Given the description of an element on the screen output the (x, y) to click on. 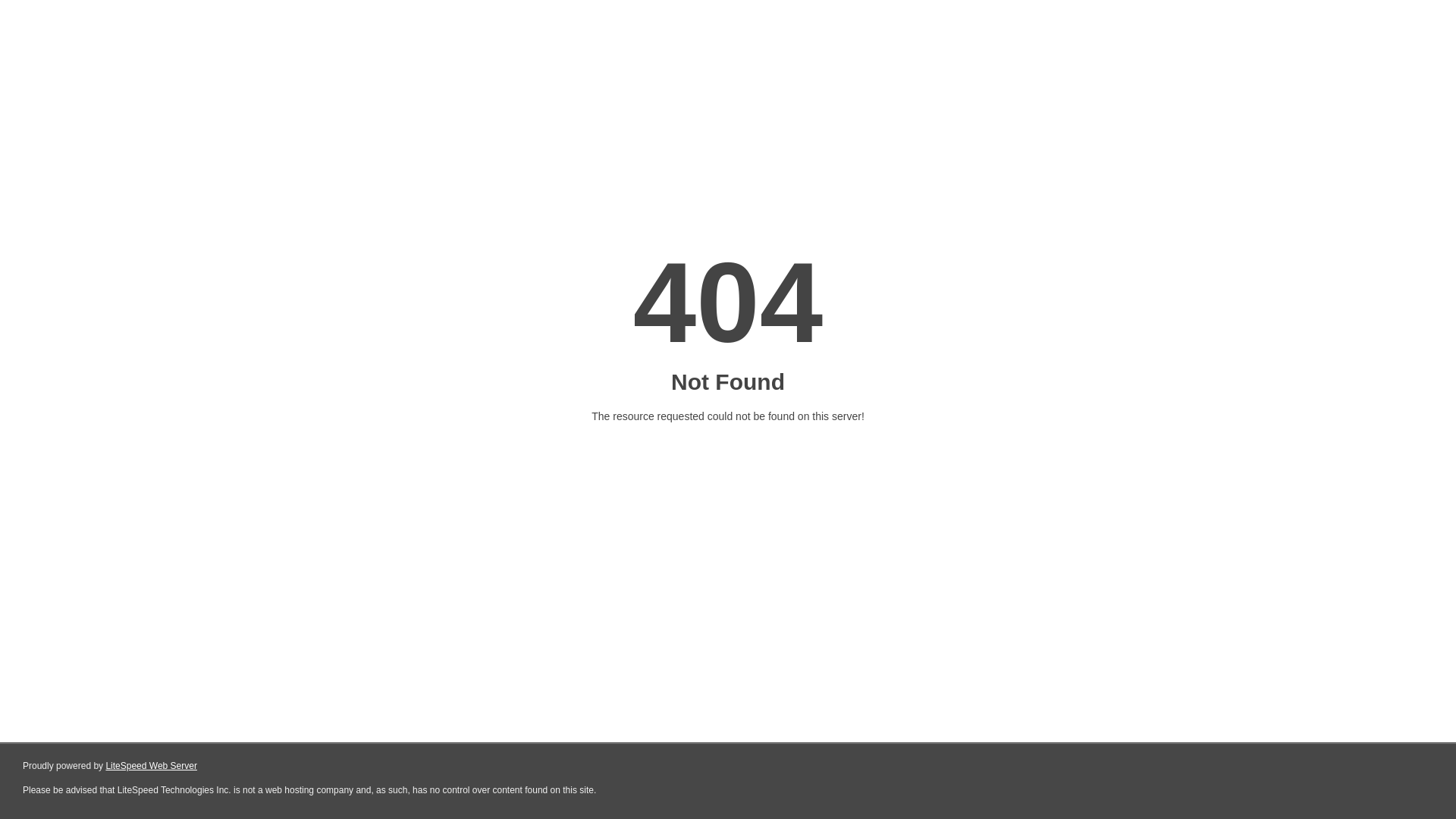
LiteSpeed Web Server (150, 765)
